Given the description of an element on the screen output the (x, y) to click on. 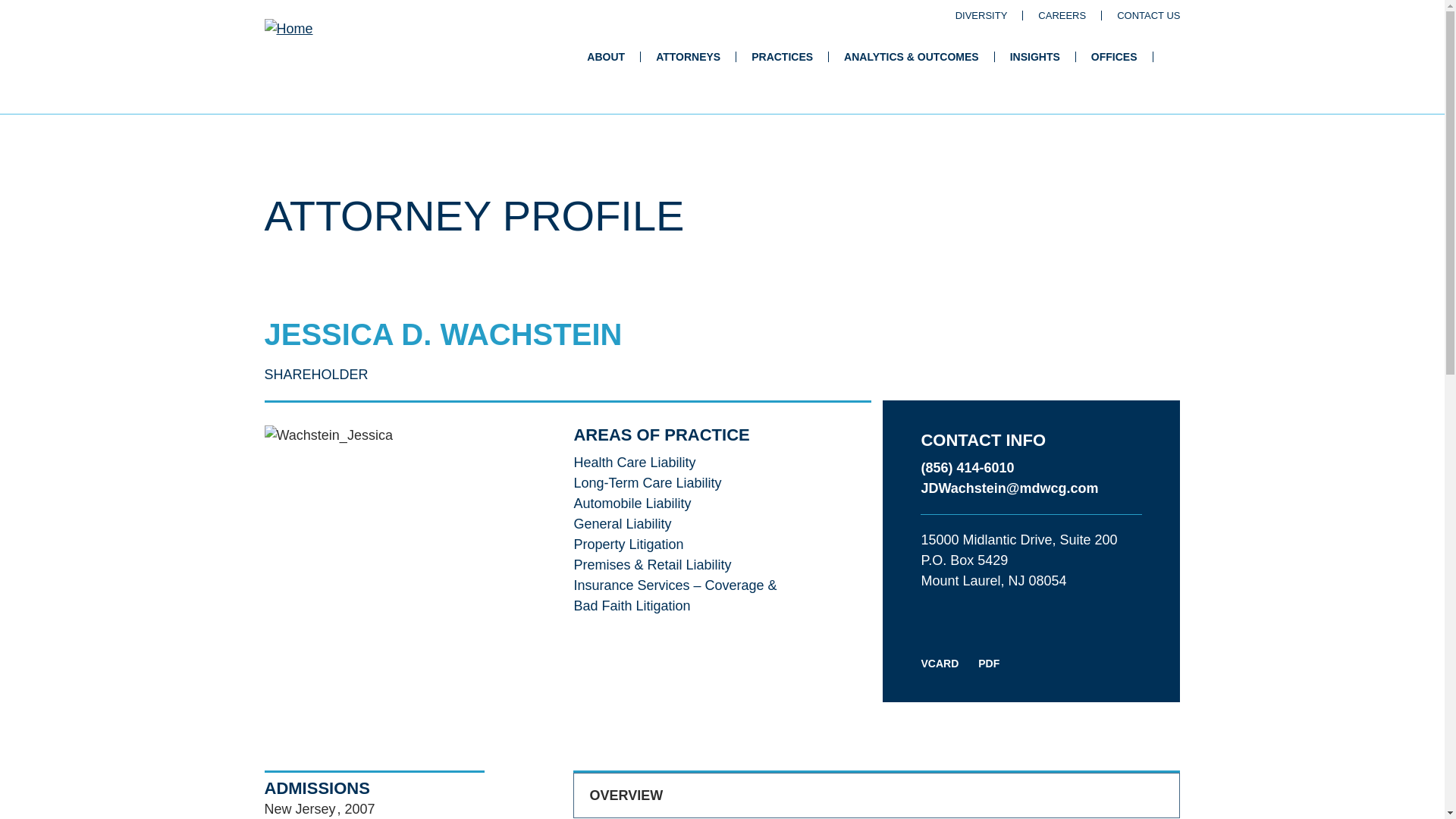
ABOUT (605, 56)
CONTACT US (1147, 14)
Long-Term Care Liability (646, 482)
DIVERSITY (981, 14)
Automobile Liability (631, 503)
General Liability (622, 523)
Health Care Liability (634, 462)
INSIGHTS (1035, 56)
